Given the description of an element on the screen output the (x, y) to click on. 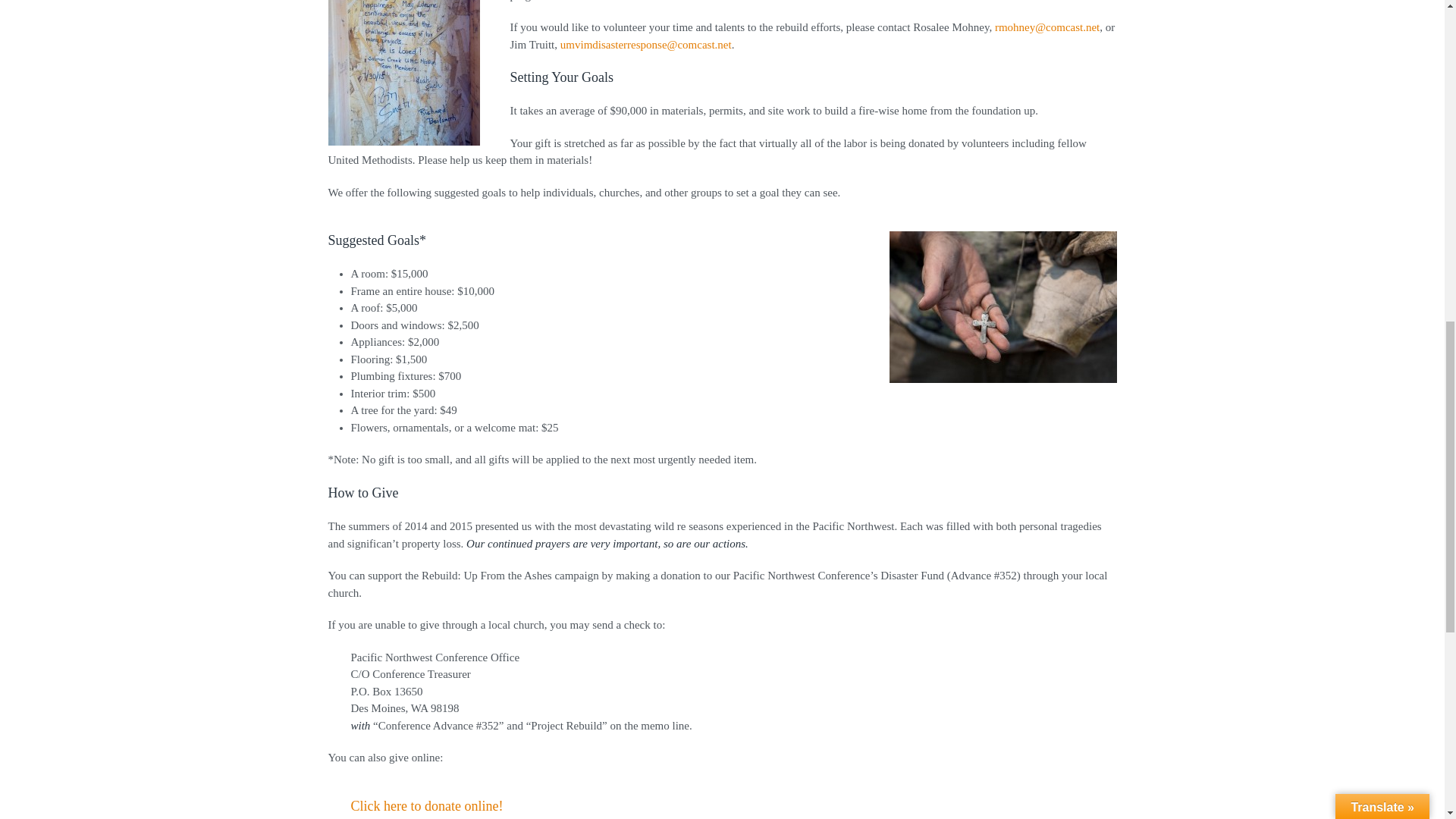
Page 1 (721, 534)
